Given the description of an element on the screen output the (x, y) to click on. 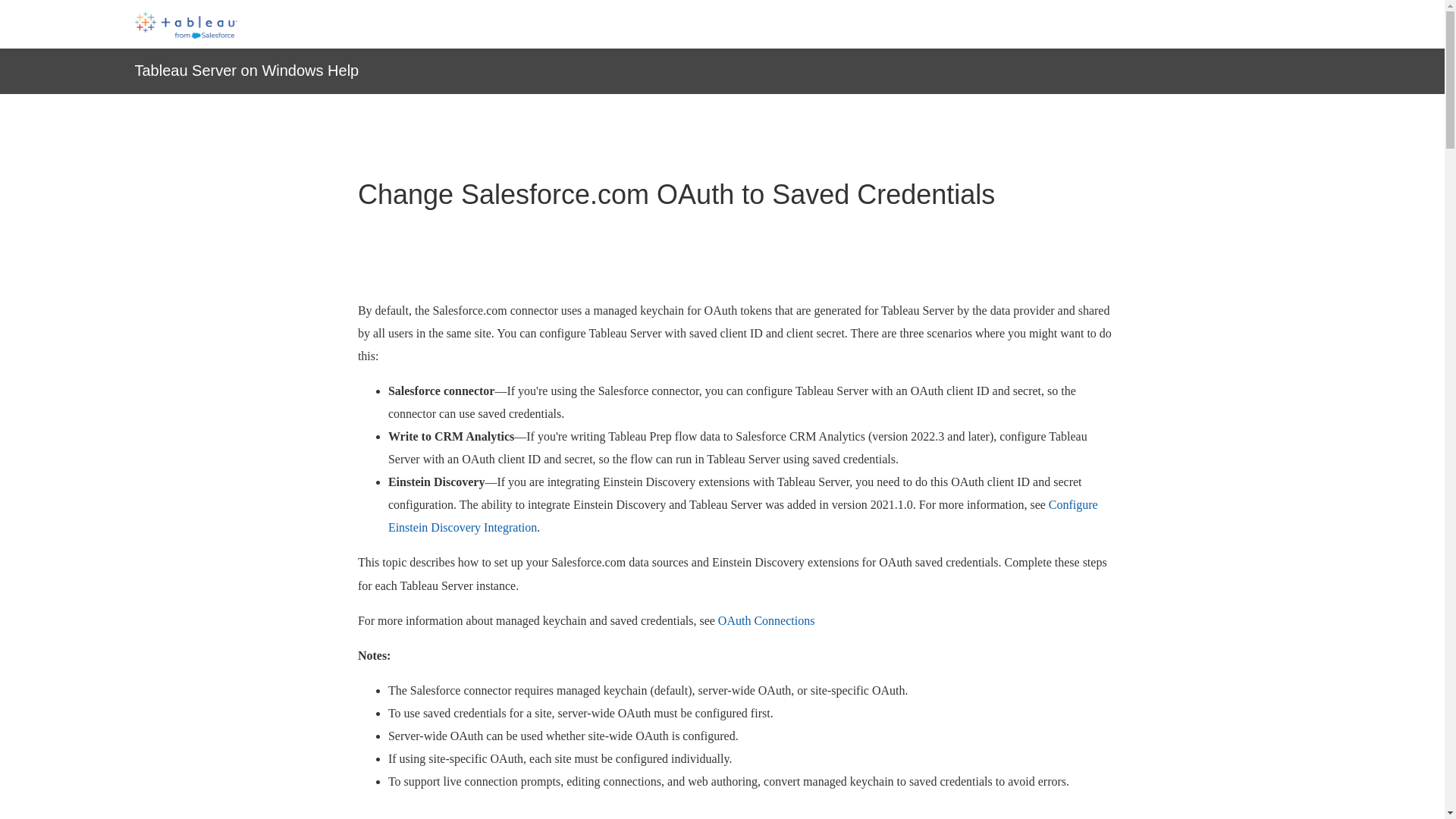
OAuth Connections (766, 620)
Configure Einstein Discovery Integration (742, 515)
